Given the description of an element on the screen output the (x, y) to click on. 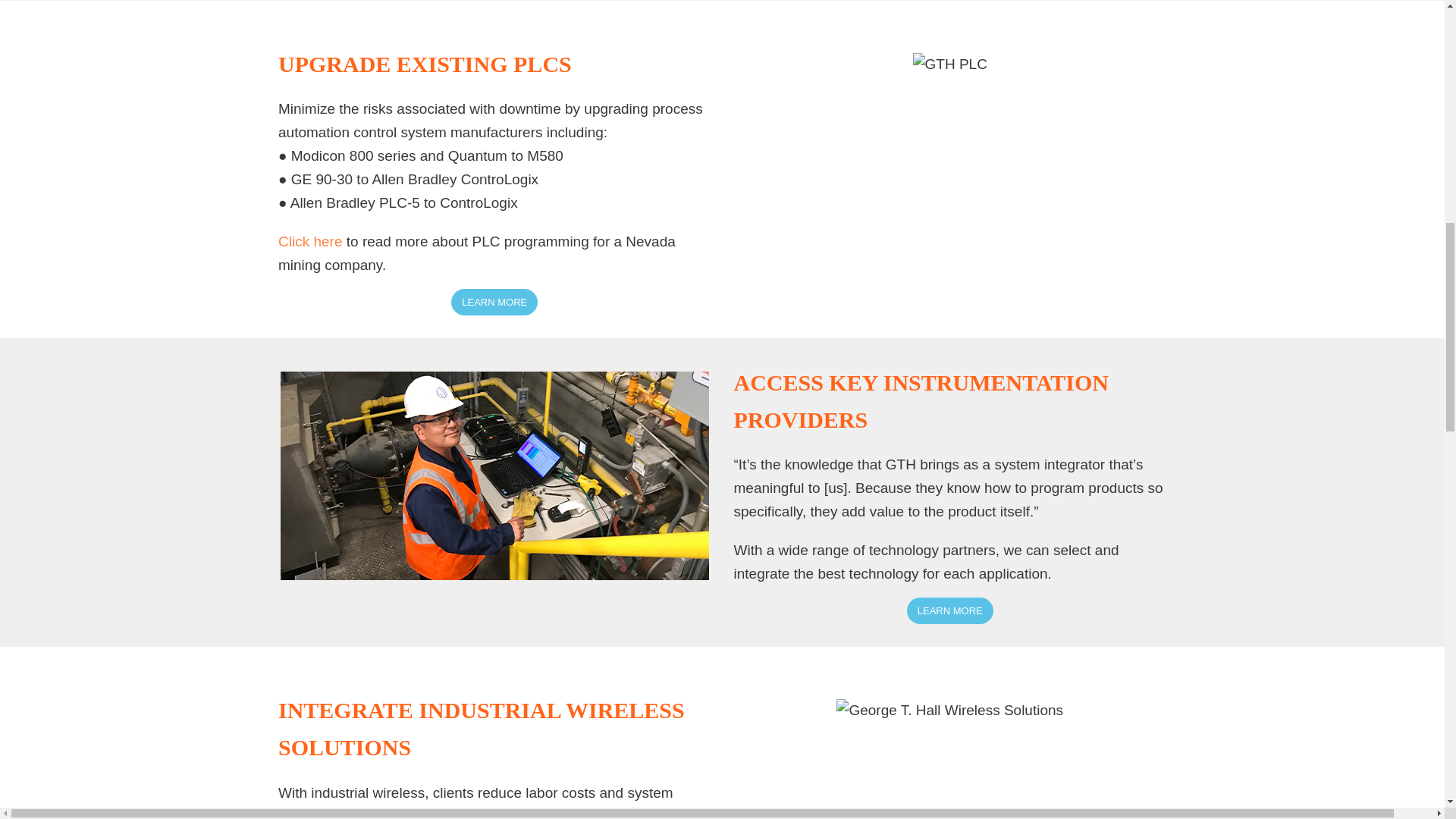
George T. Hall Wireless Solutions (948, 710)
GTH PLC (949, 64)
GTH PLC (495, 475)
